Given the description of an element on the screen output the (x, y) to click on. 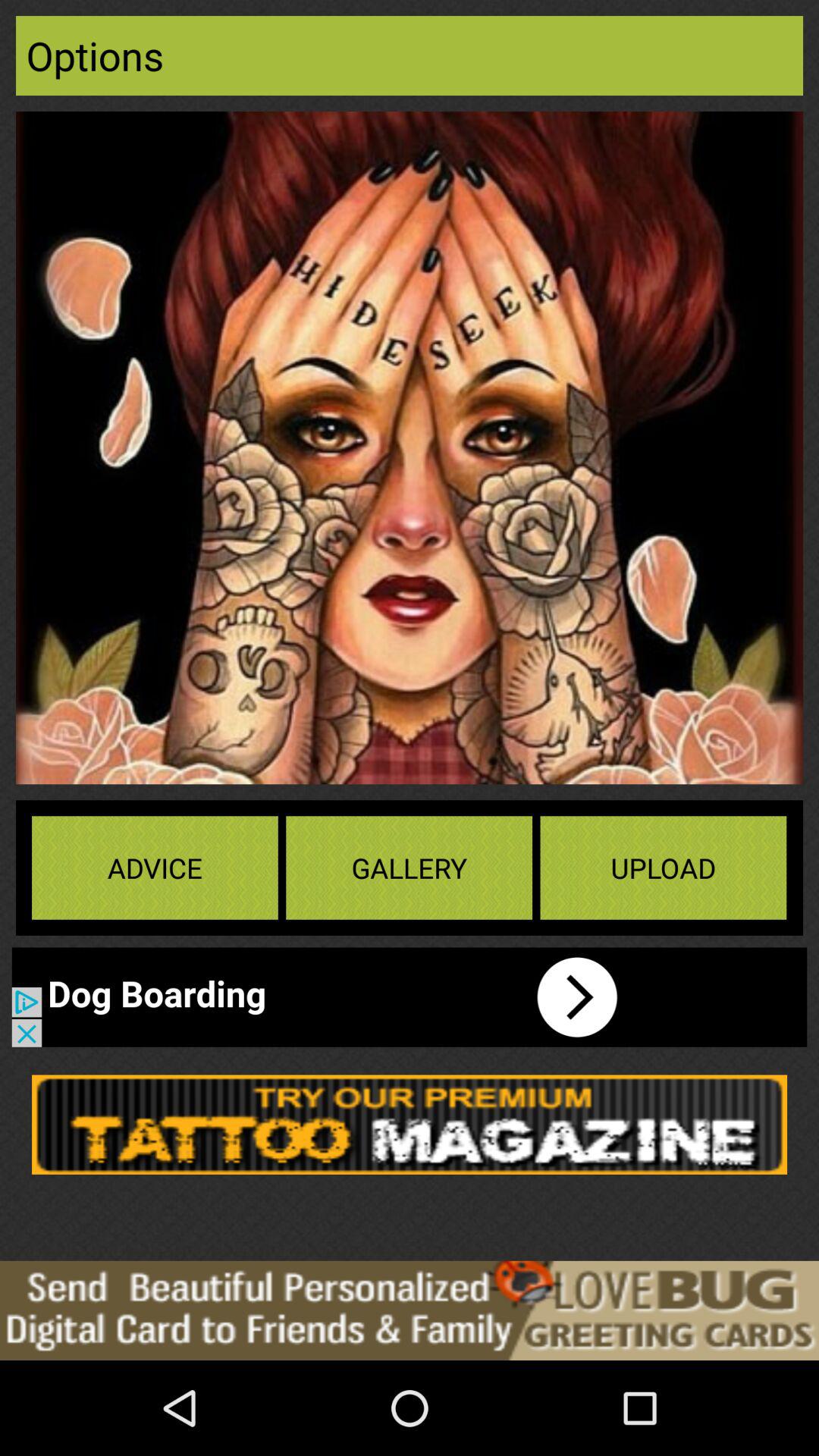
into (329, 997)
